Given the description of an element on the screen output the (x, y) to click on. 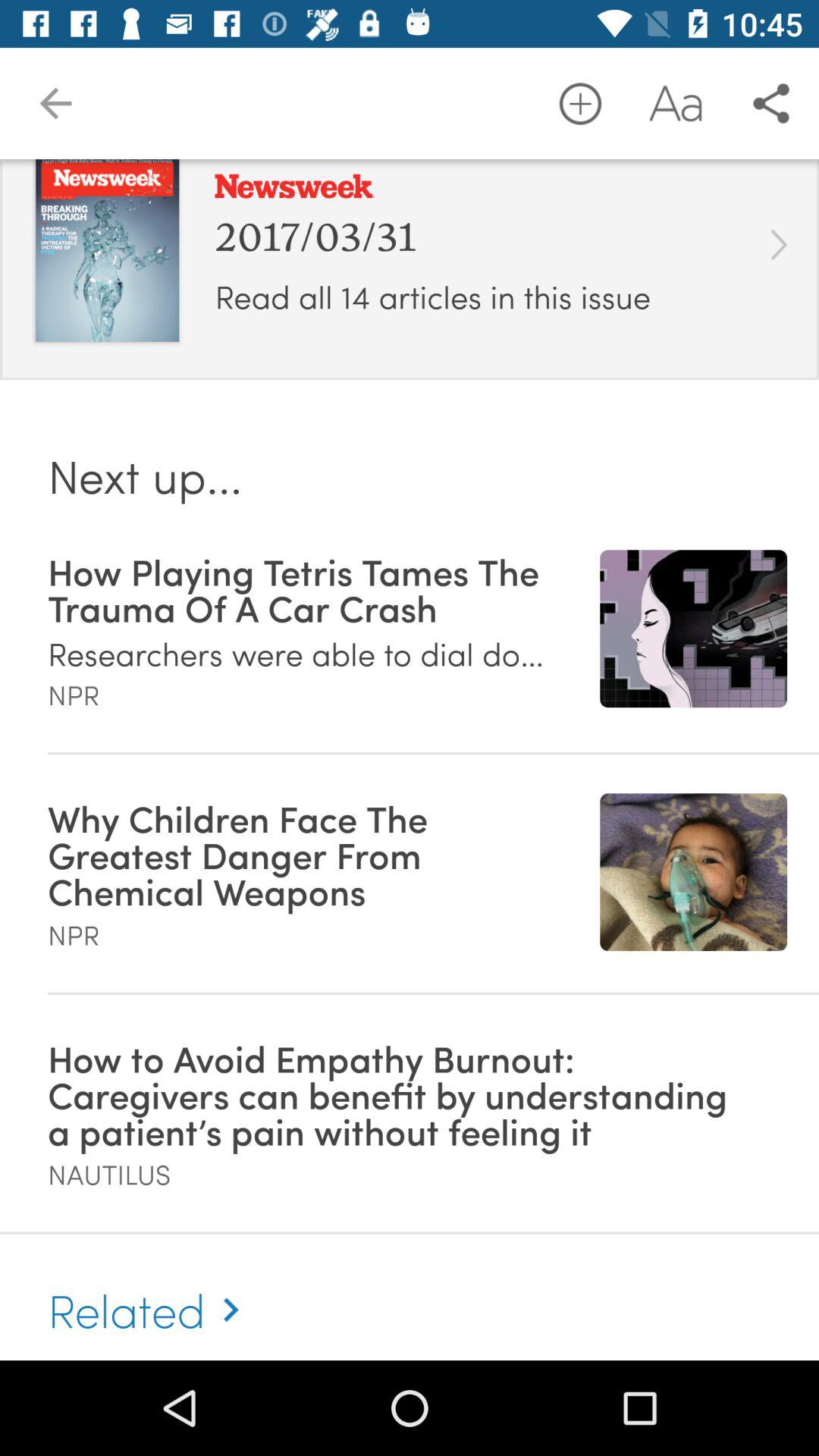
turn on the related item (150, 1292)
